Given the description of an element on the screen output the (x, y) to click on. 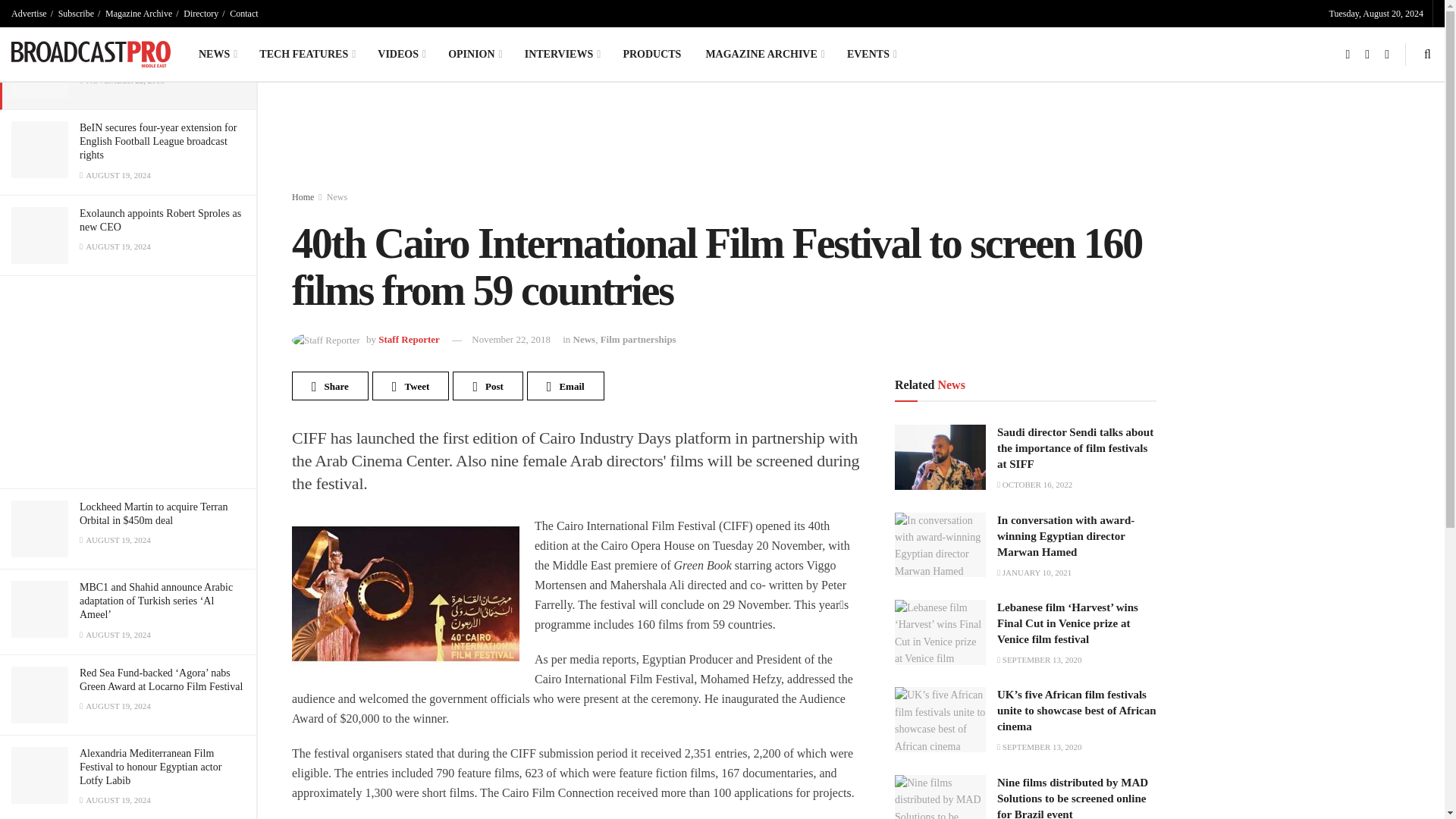
3rd party ad content (127, 381)
Exolaunch appoints Robert Sproles as new CEO (160, 220)
Advertise (28, 13)
Contact (243, 13)
3rd party ad content (659, 139)
Magazine Archive (137, 13)
Subscribe (76, 13)
